Given the description of an element on the screen output the (x, y) to click on. 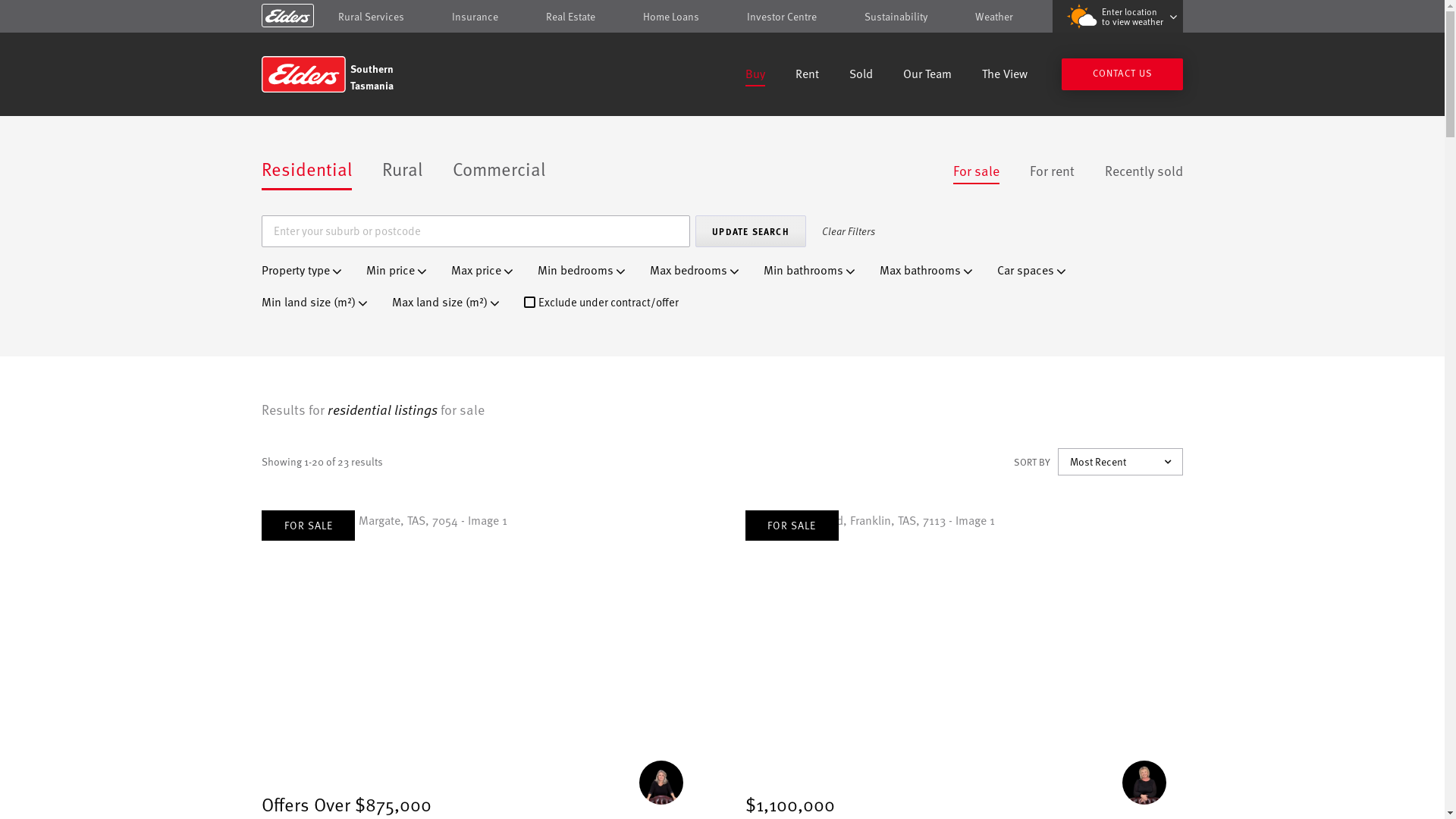
Sold Element type: text (860, 75)
Southern Tasmania Element type: text (369, 74)
Clear Filters Element type: text (847, 230)
For sale Element type: text (976, 170)
Our Team Element type: text (927, 75)
Rural Element type: text (402, 169)
Commercial Element type: text (498, 169)
Enter location to view weather Element type: text (1117, 16)
Update Search Element type: text (750, 231)
Investor Centre Element type: text (781, 16)
Buy Element type: text (755, 75)
Rural Services Element type: text (371, 16)
Residential Element type: text (306, 169)
Rent Element type: text (807, 75)
Weather Element type: text (994, 16)
Insurance Element type: text (474, 16)
For rent Element type: text (1051, 170)
Skip to content Element type: text (722, 17)
Sustainability Element type: text (895, 16)
Home Loans Element type: text (671, 16)
CONTACT US Element type: text (1122, 74)
The View Element type: text (1004, 75)
Real Estate Element type: text (570, 16)
Recently sold Element type: text (1143, 170)
